Given the description of an element on the screen output the (x, y) to click on. 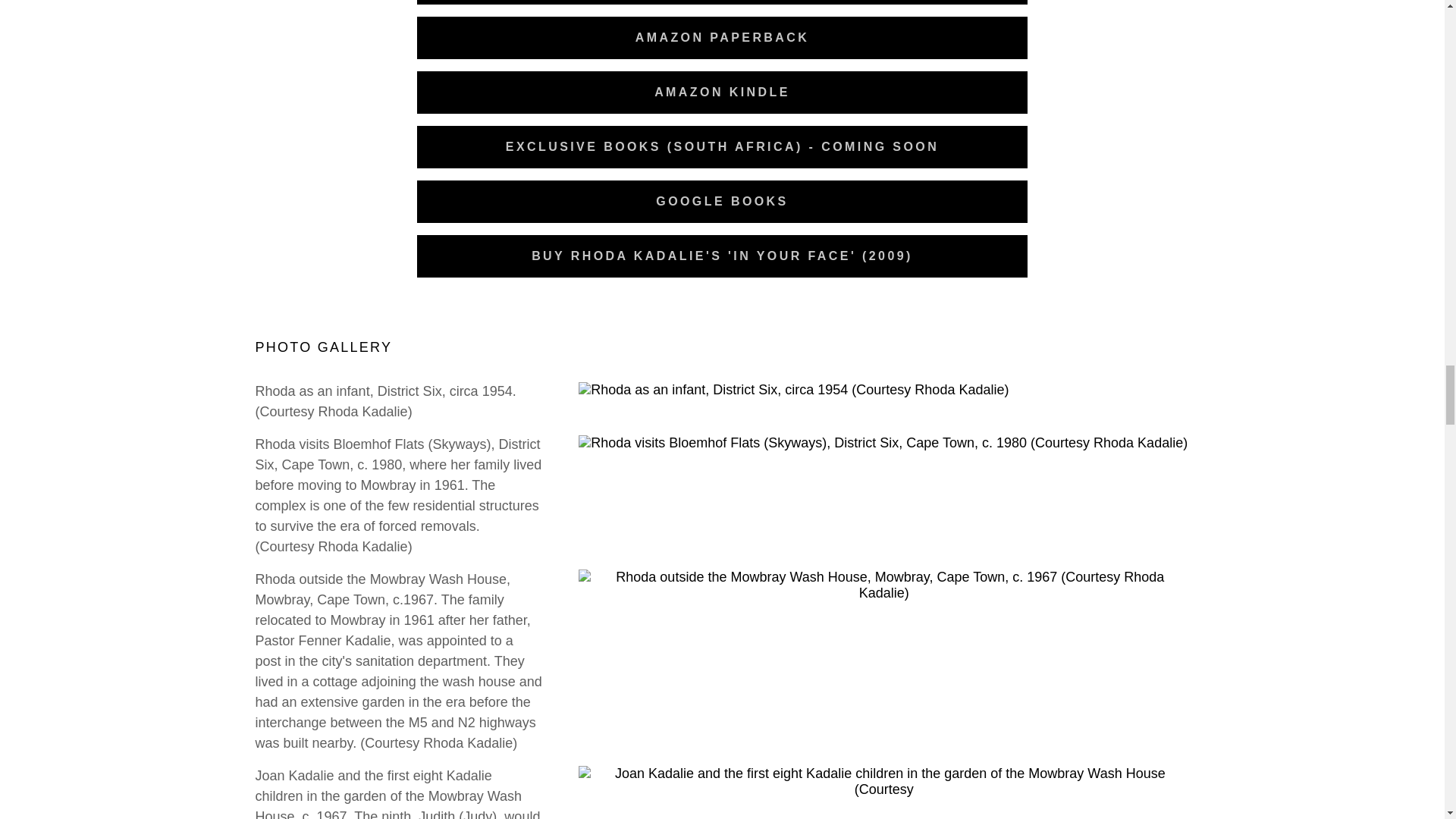
GOOGLE BOOKS (721, 201)
AMAZON KINDLE (721, 92)
AMAZON PAPERBACK (721, 37)
